Given the description of an element on the screen output the (x, y) to click on. 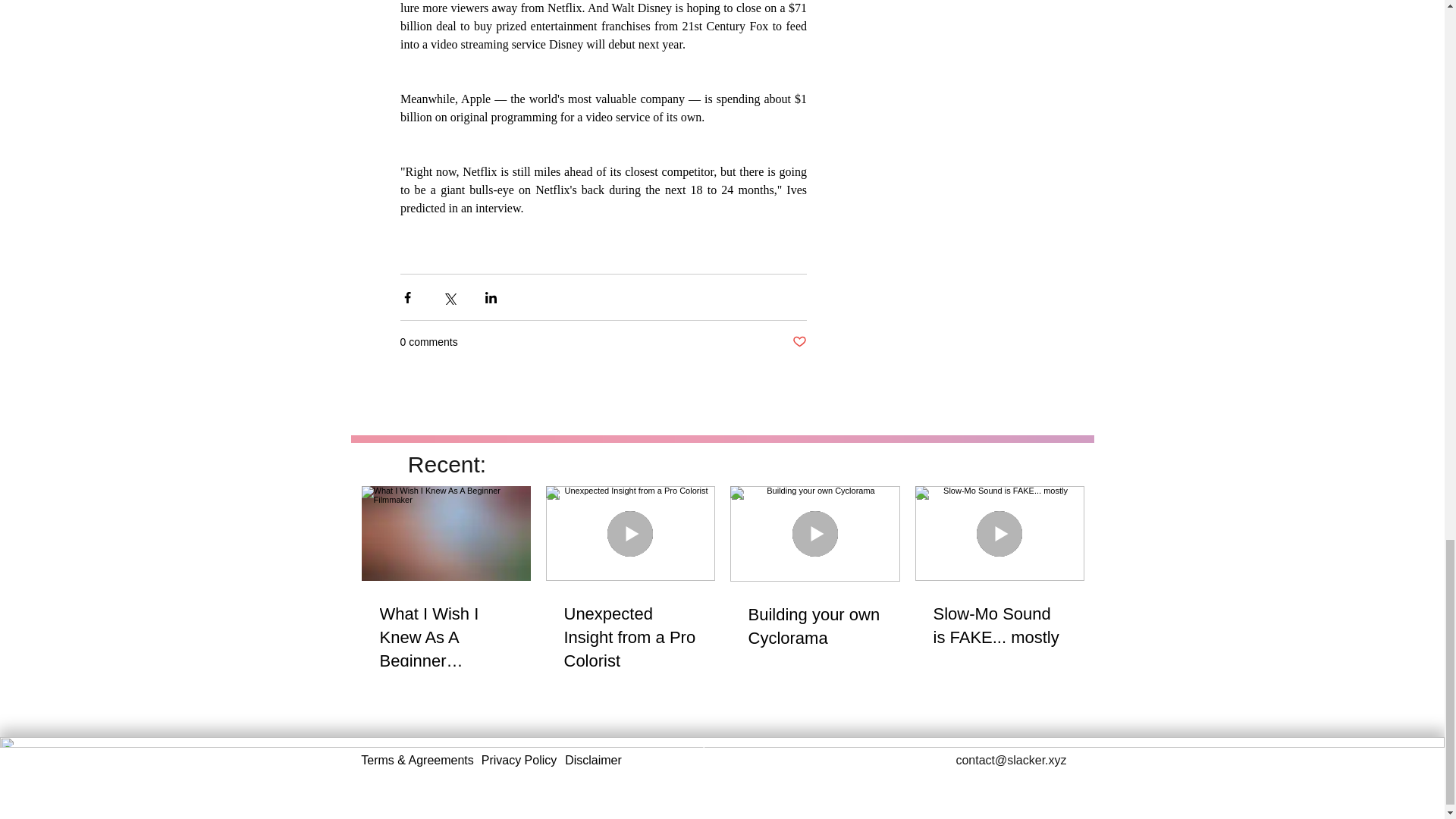
Post not marked as liked (799, 342)
Building your own Cyclorama (814, 626)
Disclaimer (592, 759)
Privacy Policy (519, 759)
What I Wish I Knew As A Beginner Filmmaker (445, 637)
Unexpected Insight from a Pro Colorist (630, 637)
Slow-Mo Sound is FAKE... mostly (999, 626)
